Given the description of an element on the screen output the (x, y) to click on. 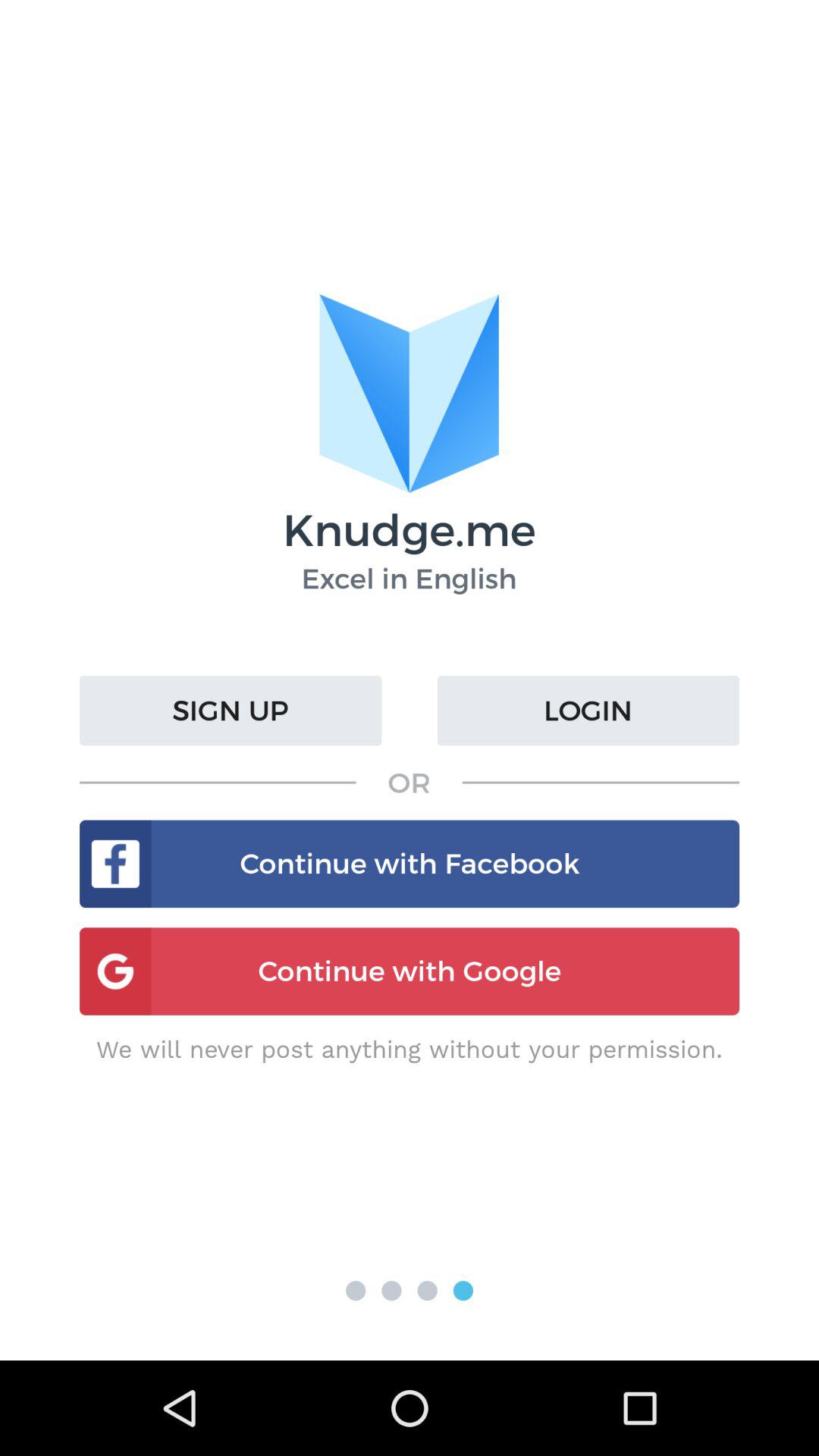
choose the login icon (588, 710)
